Given the description of an element on the screen output the (x, y) to click on. 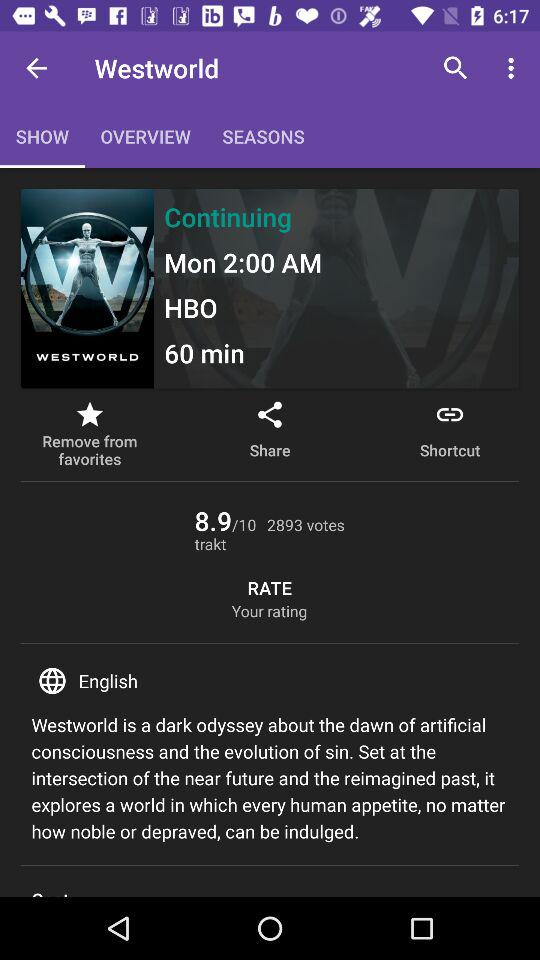
select the globe icon and text english (269, 681)
select the content right to the westworld poster (335, 288)
go to frame below the menu bar (269, 288)
option right to overview option (263, 136)
select text below english (270, 778)
